Given the description of an element on the screen output the (x, y) to click on. 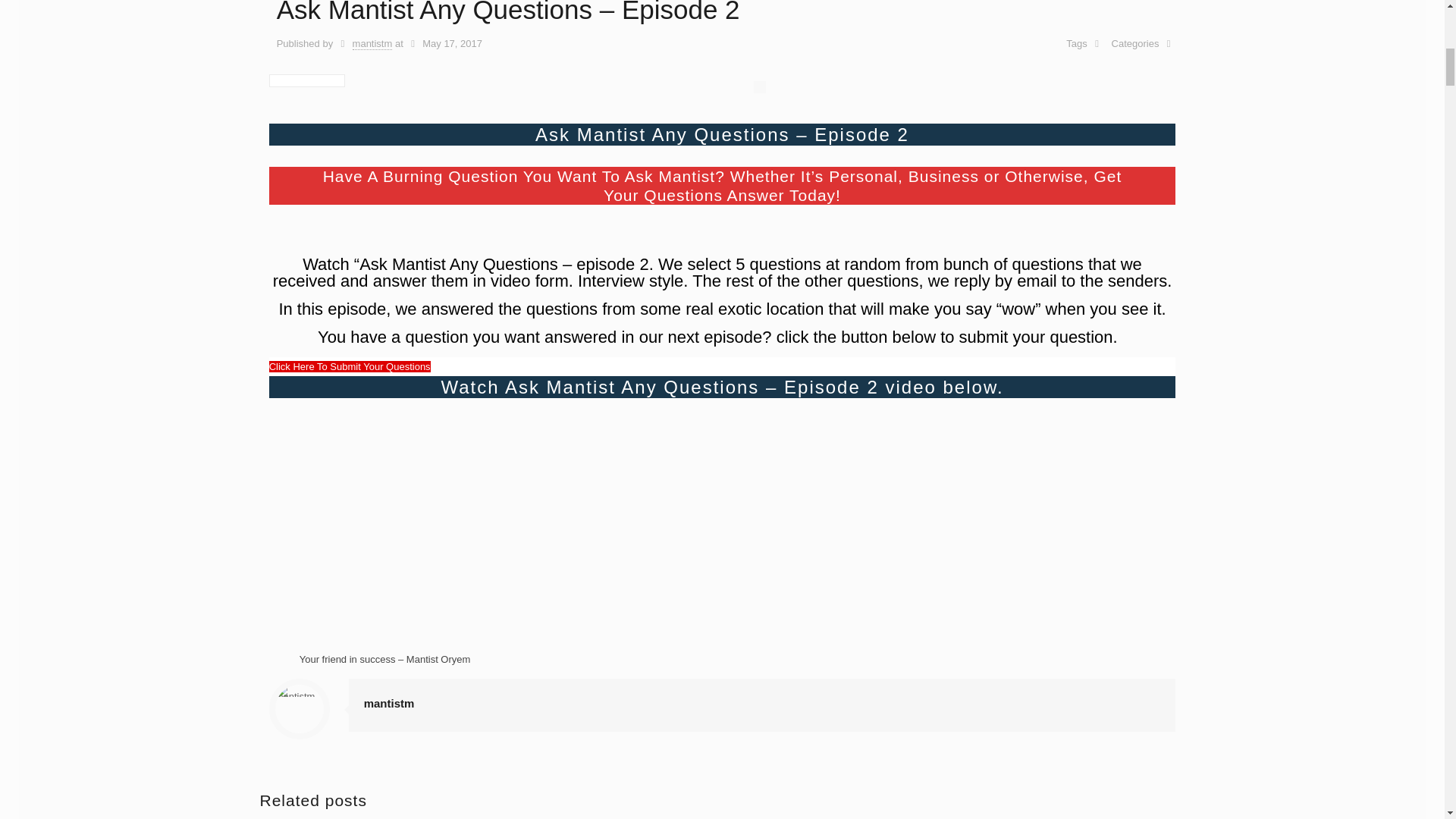
Ask Mantist Any Questions - Episode 2 (458, 515)
